Given the description of an element on the screen output the (x, y) to click on. 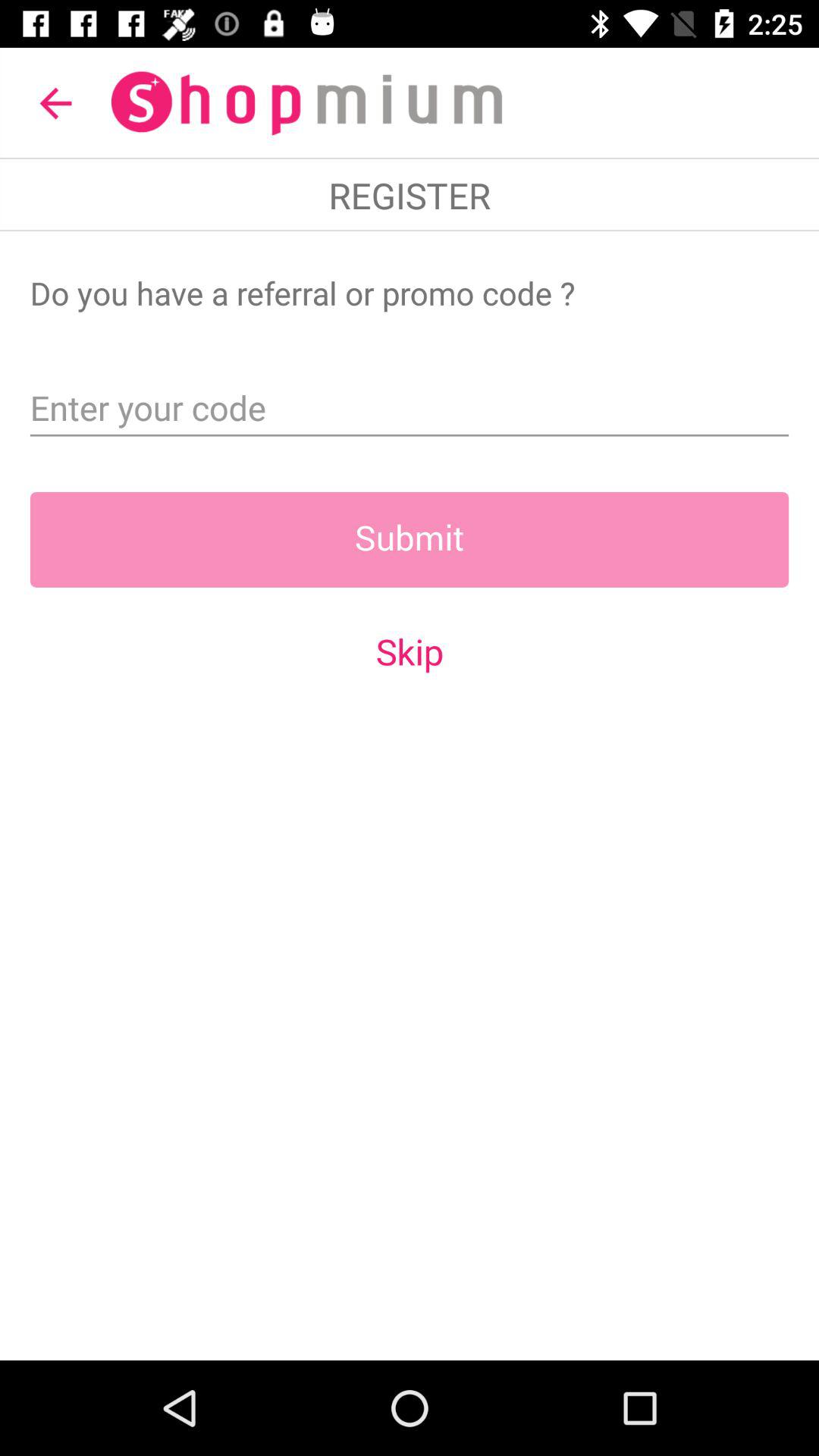
enter referral/promo code (409, 403)
